Given the description of an element on the screen output the (x, y) to click on. 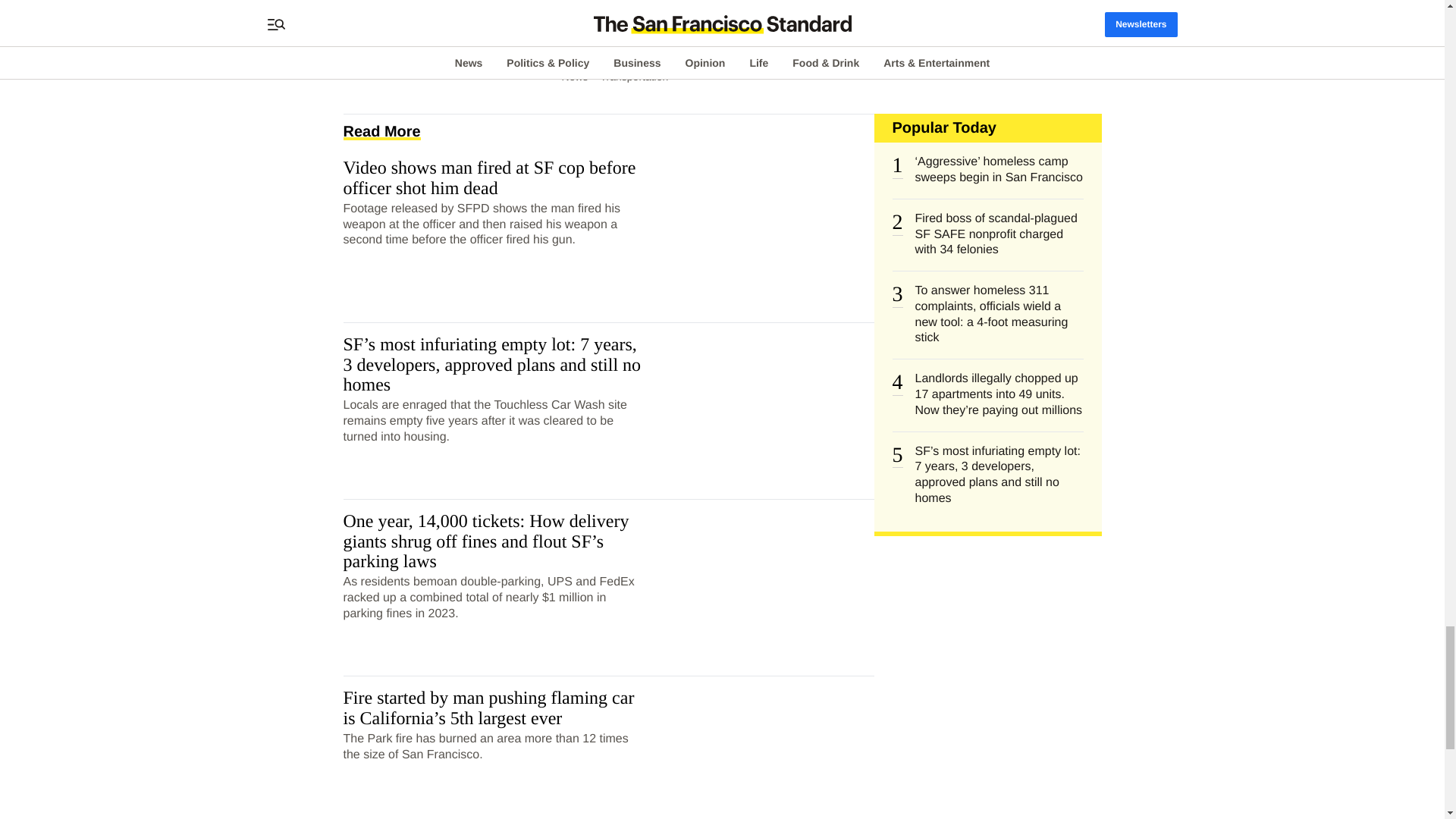
News (575, 76)
Transportation (633, 76)
